Given the description of an element on the screen output the (x, y) to click on. 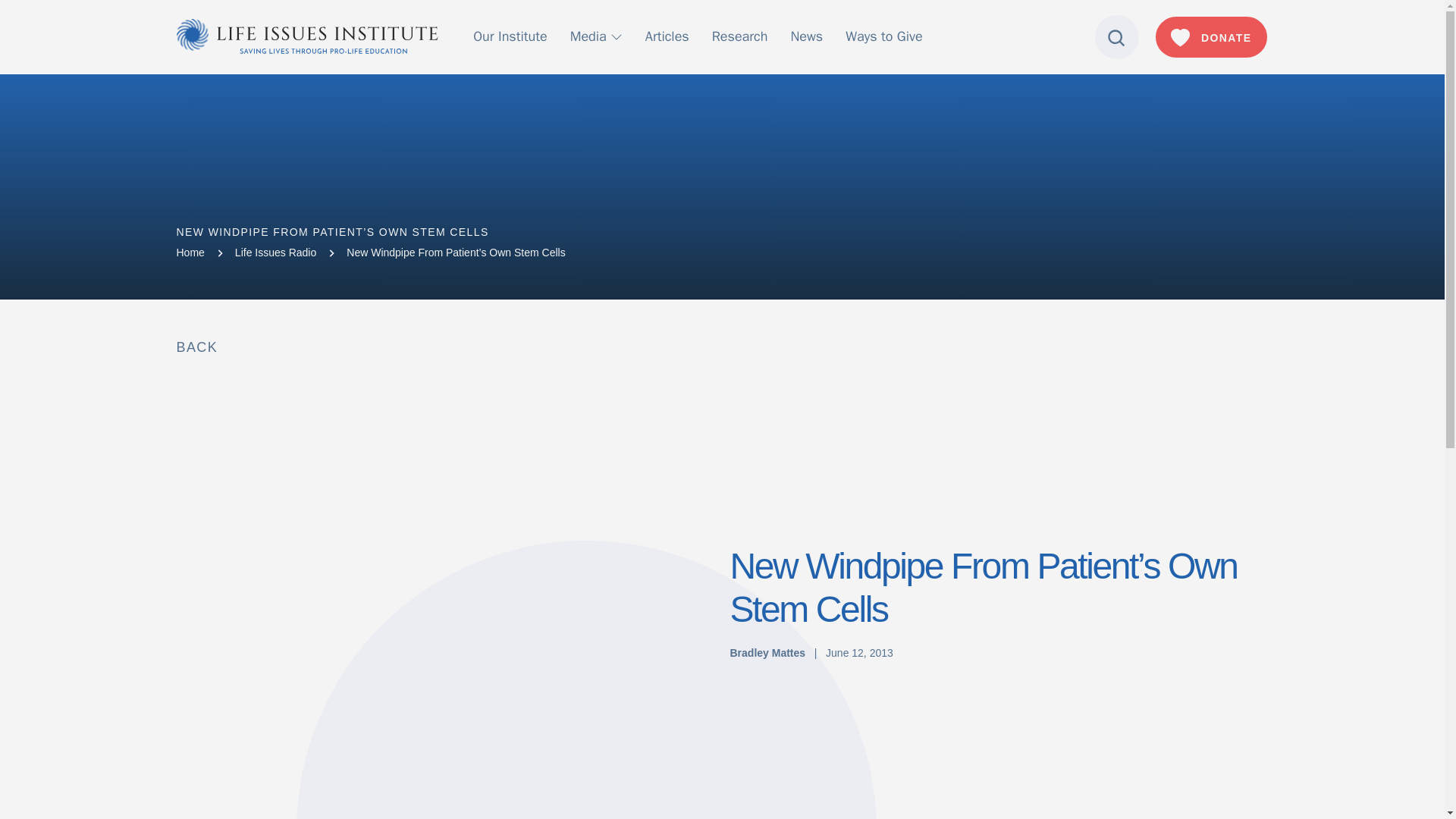
Life Issues Radio (274, 252)
Articles (666, 36)
News (806, 36)
DONATE (1211, 36)
Home (189, 252)
Our Institute (510, 36)
Ways to Give (883, 36)
Media (596, 36)
Research (739, 36)
BACK (196, 347)
